Given the description of an element on the screen output the (x, y) to click on. 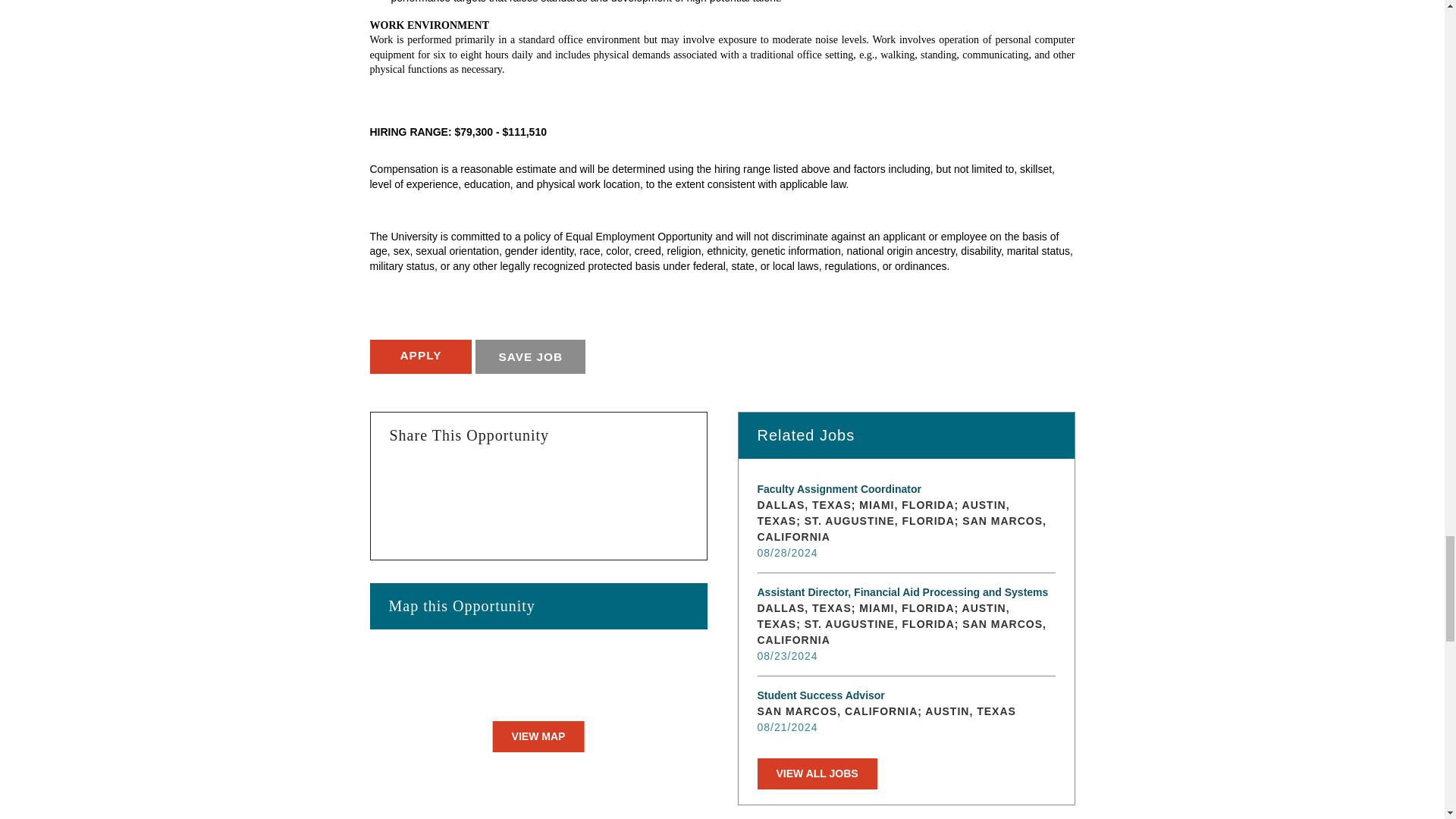
Facebook (409, 482)
Email (595, 482)
SAVE JOB (530, 356)
LinkedIn (534, 482)
APPLY (420, 356)
VIEW MAP (539, 736)
Faculty Assignment Coordinator (905, 489)
X (471, 482)
